Given the description of an element on the screen output the (x, y) to click on. 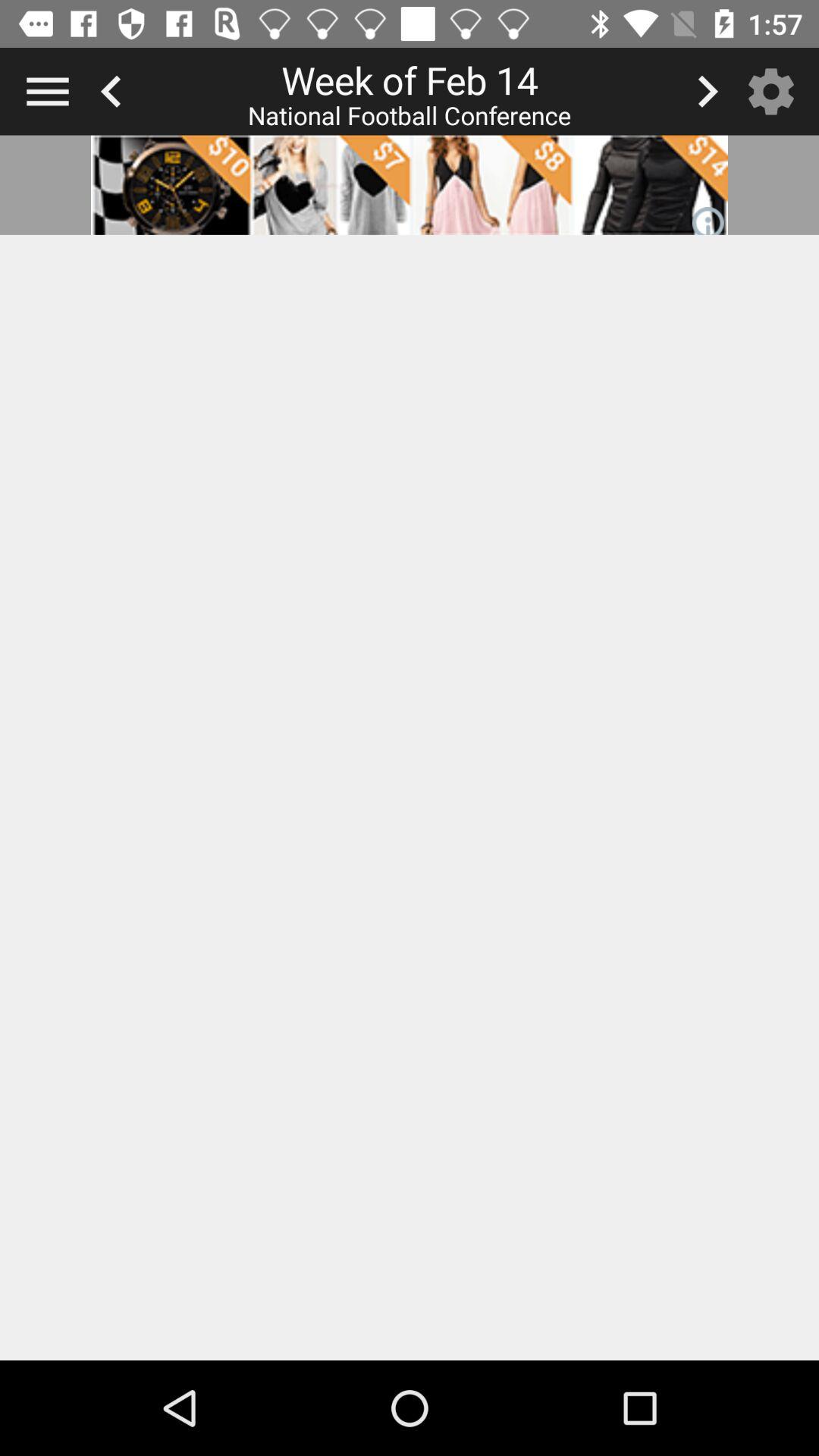
web add (409, 184)
